Given the description of an element on the screen output the (x, y) to click on. 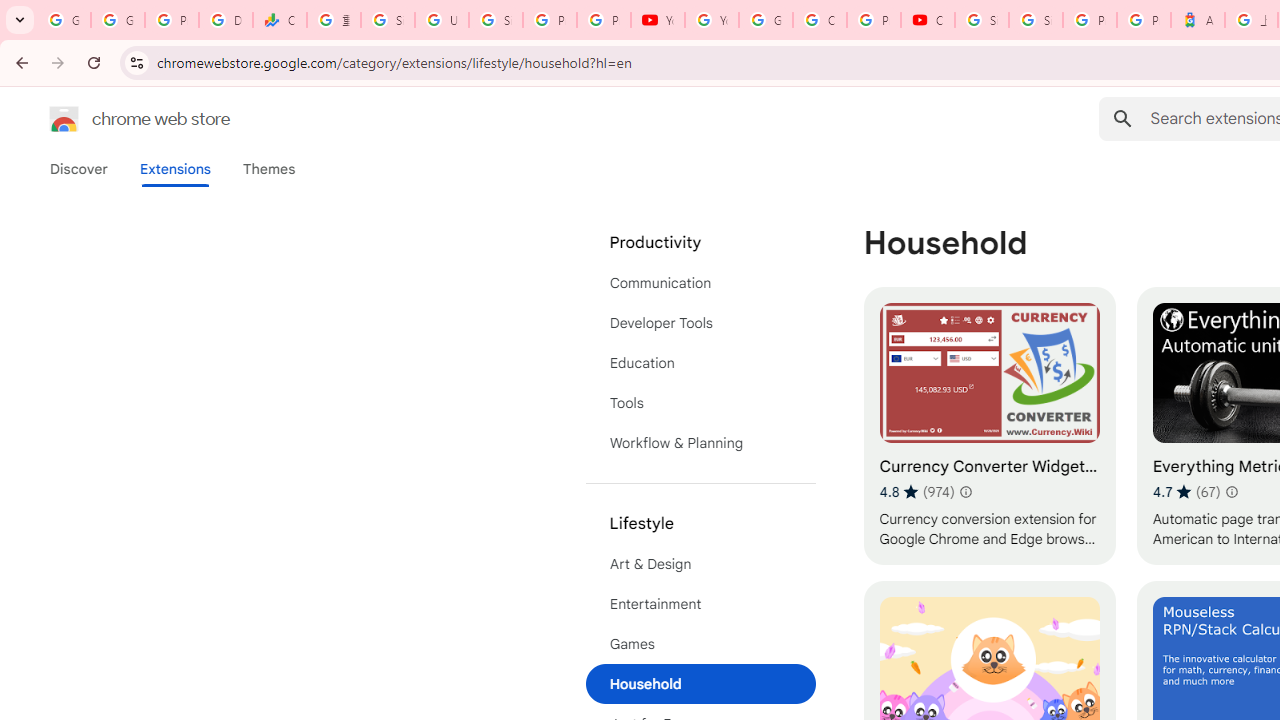
Education (700, 362)
Discover (79, 169)
Games (700, 643)
Google Workspace Admin Community (63, 20)
Chrome Web Store logo (63, 118)
Chrome Web Store logo chrome web store (118, 118)
Currency Converter Widget - Exchange Rates (989, 426)
Developer Tools (700, 322)
Average rating 4.8 out of 5 stars. 974 ratings. (916, 491)
Workflow & Planning (700, 442)
